Given the description of an element on the screen output the (x, y) to click on. 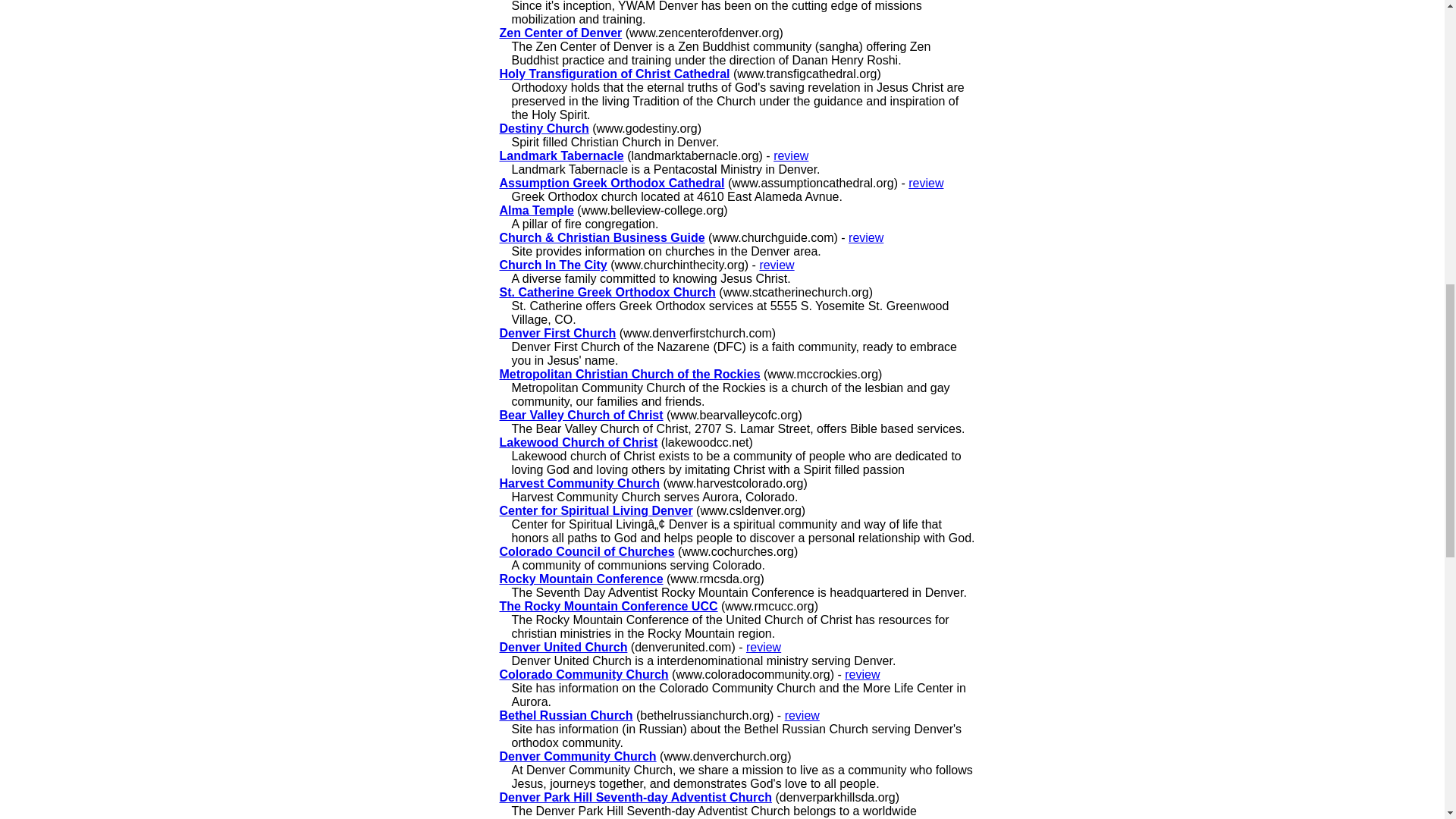
review (775, 264)
St. Catherine Greek Orthodox Church (606, 291)
Holy Transfiguration of Christ Cathedral (614, 73)
review (790, 155)
review (925, 182)
Landmark Tabernacle (561, 155)
Church In The City (553, 264)
review (865, 237)
Destiny Church (543, 128)
Assumption Greek Orthodox Cathedral (611, 182)
Zen Center of Denver (560, 32)
Alma Temple (536, 210)
